Given the description of an element on the screen output the (x, y) to click on. 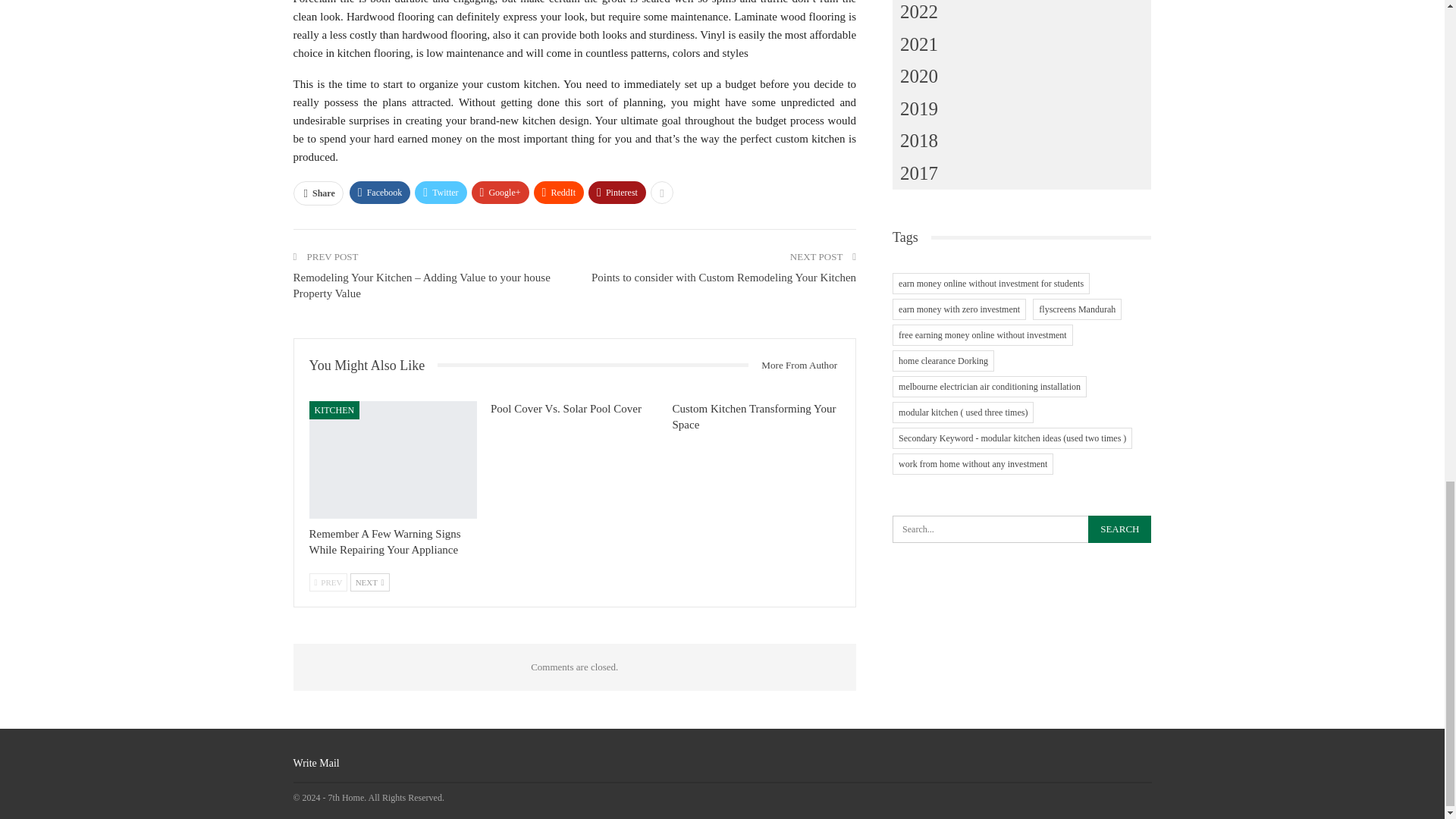
Custom Kitchen Transforming Your Space (753, 416)
You Might Also Like (373, 365)
Points to consider with Custom Remodeling Your Kitchen (723, 277)
Pinterest (617, 191)
Search (1119, 528)
Next (370, 582)
ReddIt (559, 191)
Facebook (379, 191)
Previous (327, 582)
More From Author (794, 364)
